Given the description of an element on the screen output the (x, y) to click on. 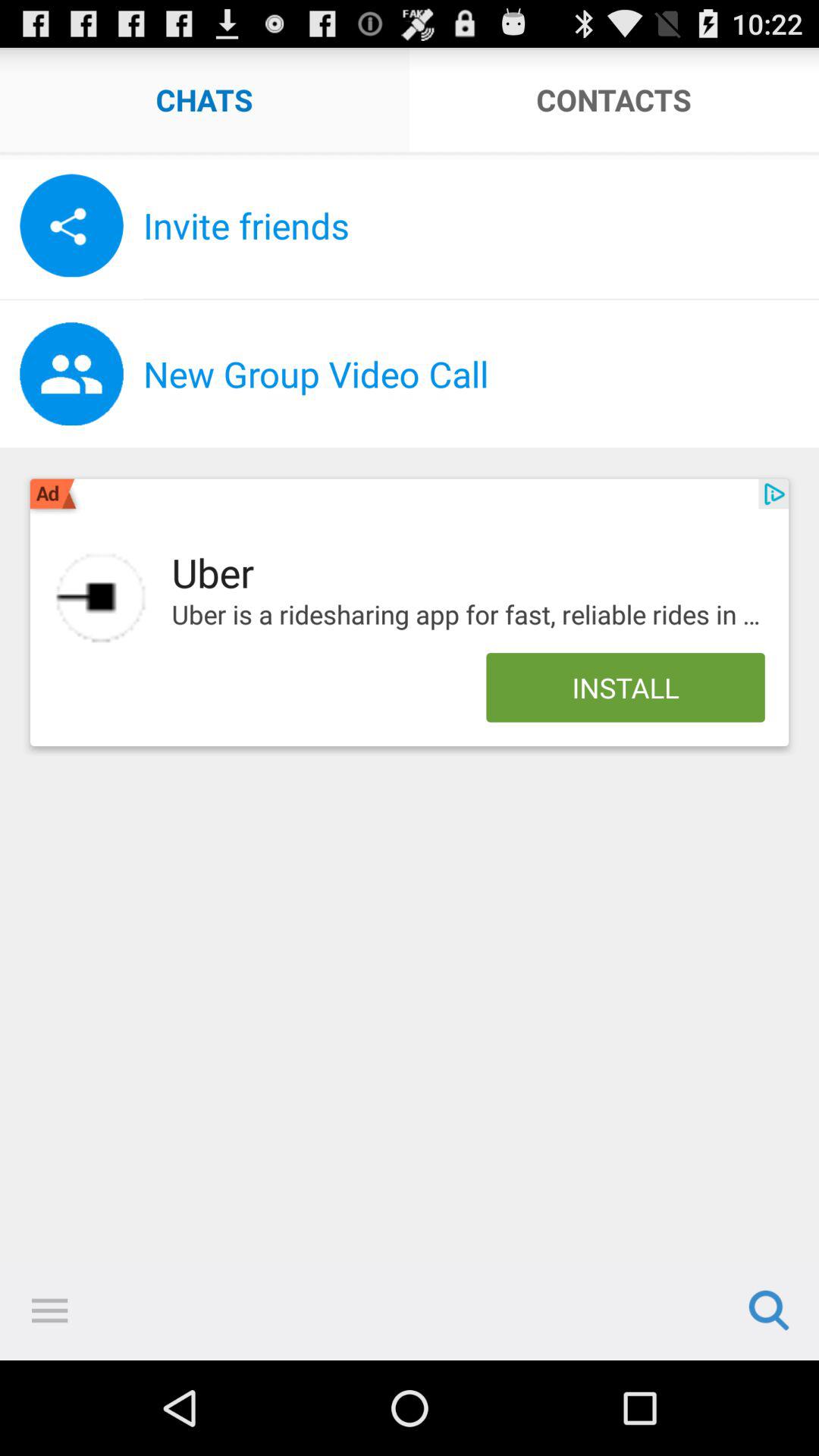
launch install icon (625, 687)
